Given the description of an element on the screen output the (x, y) to click on. 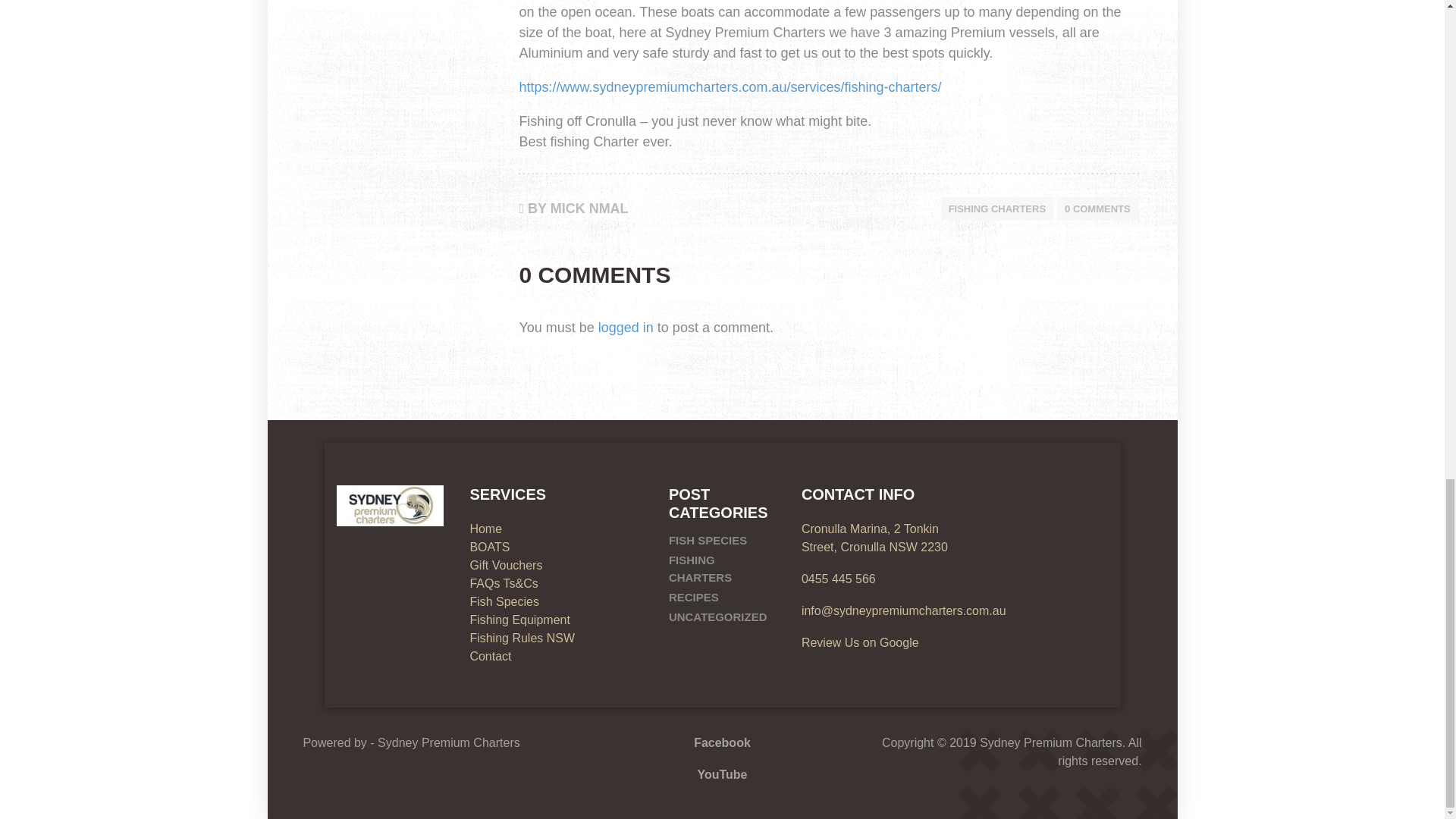
0 COMMENTS (1097, 208)
logged in (625, 327)
Sydney Premium Charters - Fishing Charters Croulla (390, 505)
FISHING CHARTERS (996, 208)
